Given the description of an element on the screen output the (x, y) to click on. 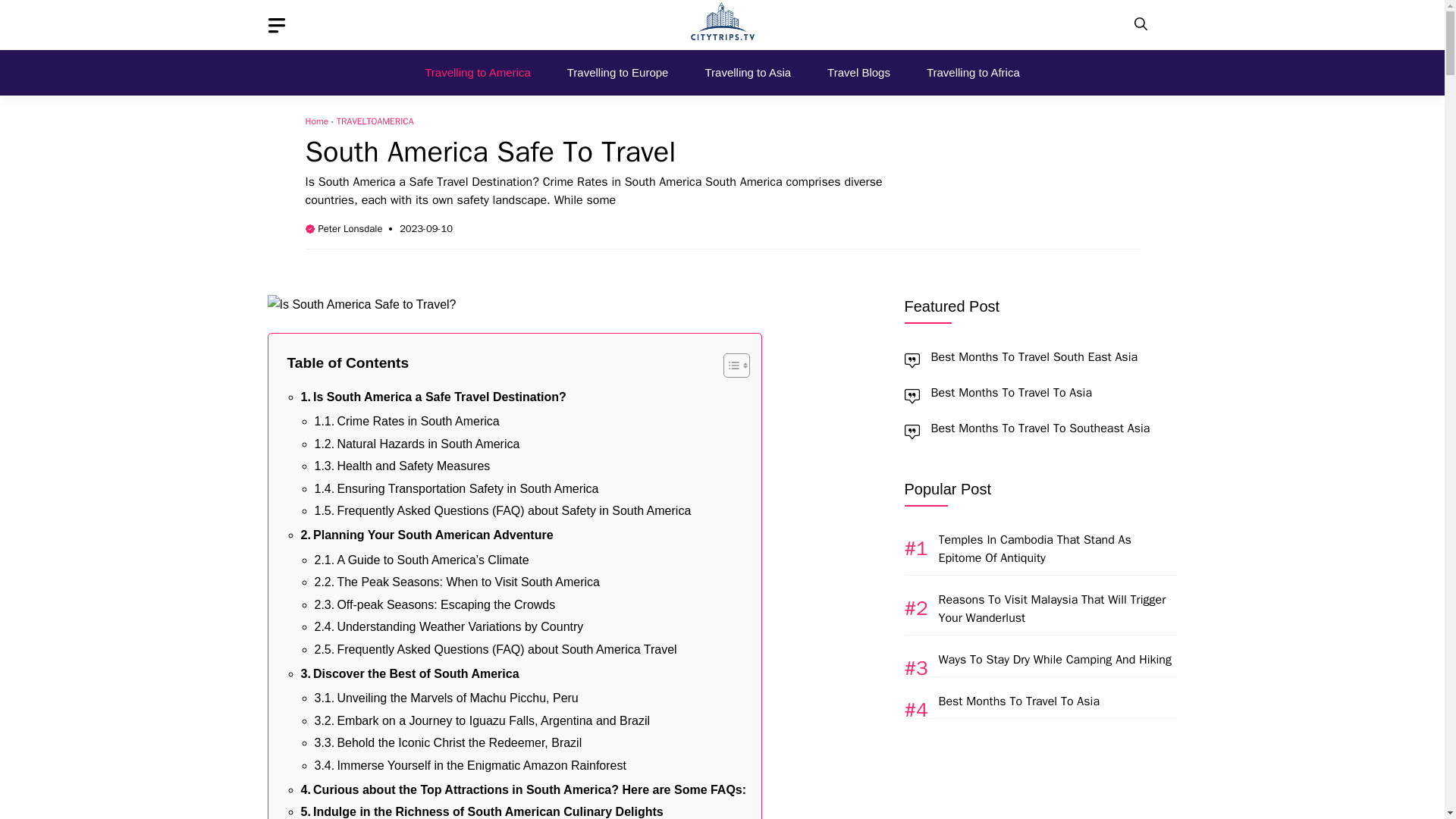
Off-peak Seasons: Escaping the Crowds (434, 605)
Travelling to Europe (617, 72)
 Ensuring Transportation Safety in South America (456, 488)
Health and Safety Measures (401, 465)
 Health and Safety Measures (401, 465)
 Natural Hazards in South America (416, 444)
Unveiling the Marvels of Machu Picchu, Peru (446, 698)
Travel Blogs (858, 72)
 Planning Your South American Adventure (426, 535)
Ensuring Transportation Safety in South America (456, 488)
Is South America a Safe Travel Destination? (432, 396)
Travelling to America (477, 72)
Behold the Iconic Christ the Redeemer, Brazil (447, 742)
TRAVELTOAMERICA (374, 121)
